Given the description of an element on the screen output the (x, y) to click on. 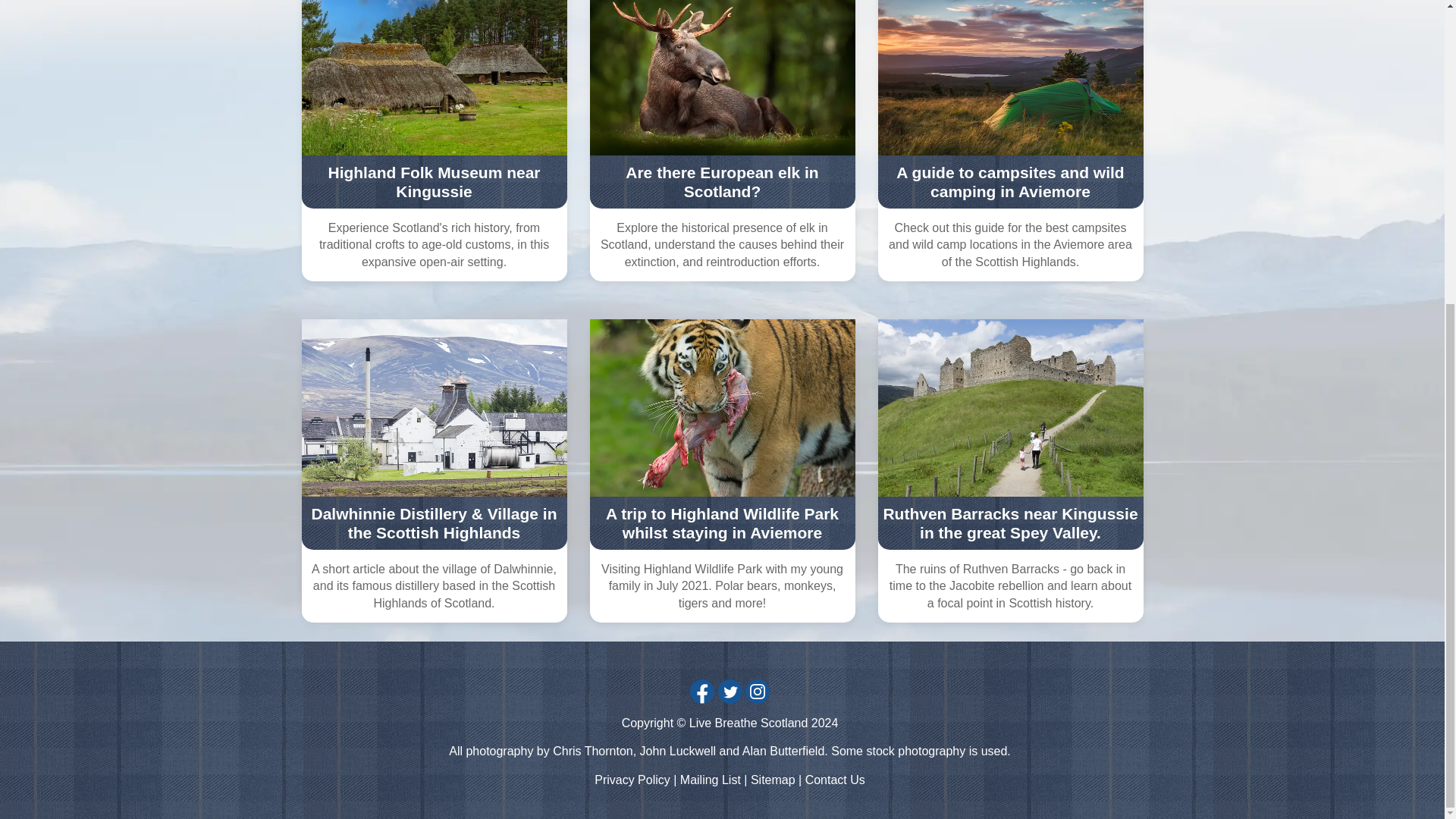
Highland Folk Museum near Kingussie (434, 181)
Are there European elk in Scotland? (721, 181)
Ruthven Barracks near Kingussie in the great Spey Valley. (1010, 523)
A trip to Highland Wildlife Park whilst staying in Aviemore (721, 523)
A guide to campsites and wild camping in Aviemore (1010, 181)
